Given the description of an element on the screen output the (x, y) to click on. 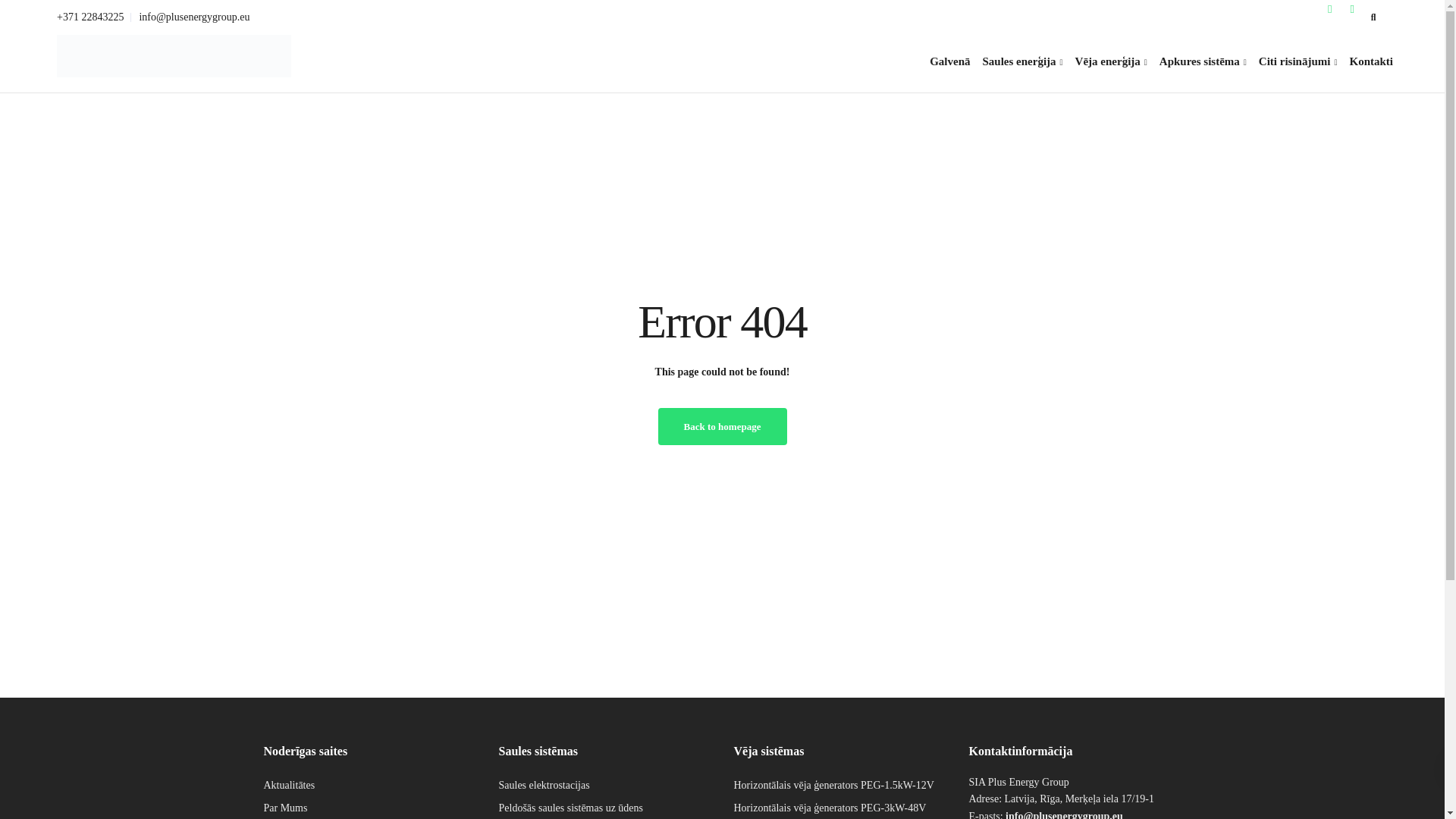
Kontakti (1370, 60)
Back to homepage (722, 426)
Par Mums (285, 808)
Saules elektrostacijas (544, 785)
